Given the description of an element on the screen output the (x, y) to click on. 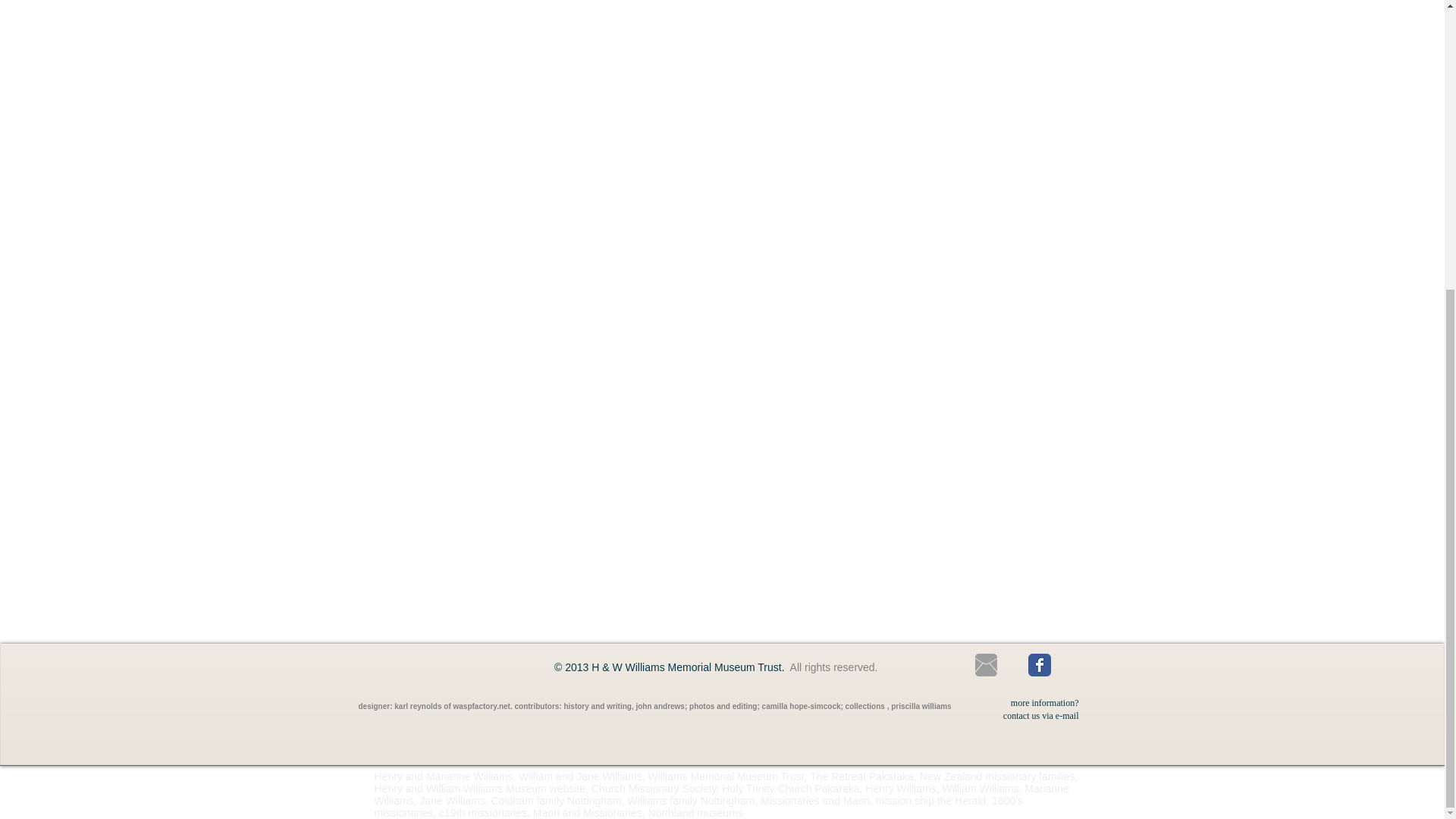
contact us via e-mail (1040, 715)
more information? (1044, 702)
